Given the description of an element on the screen output the (x, y) to click on. 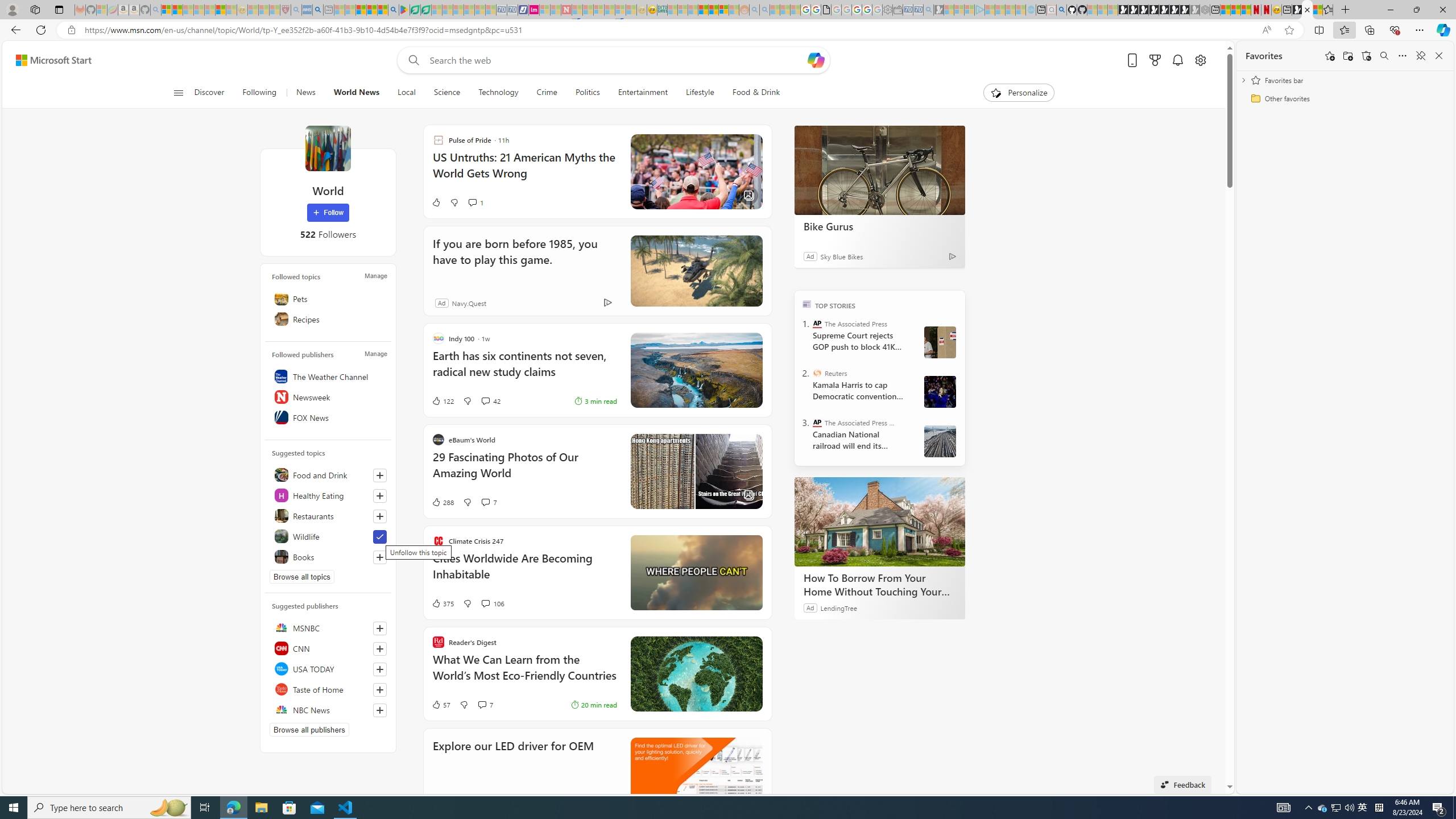
Pets (327, 298)
The Associated Press (816, 323)
